Given the description of an element on the screen output the (x, y) to click on. 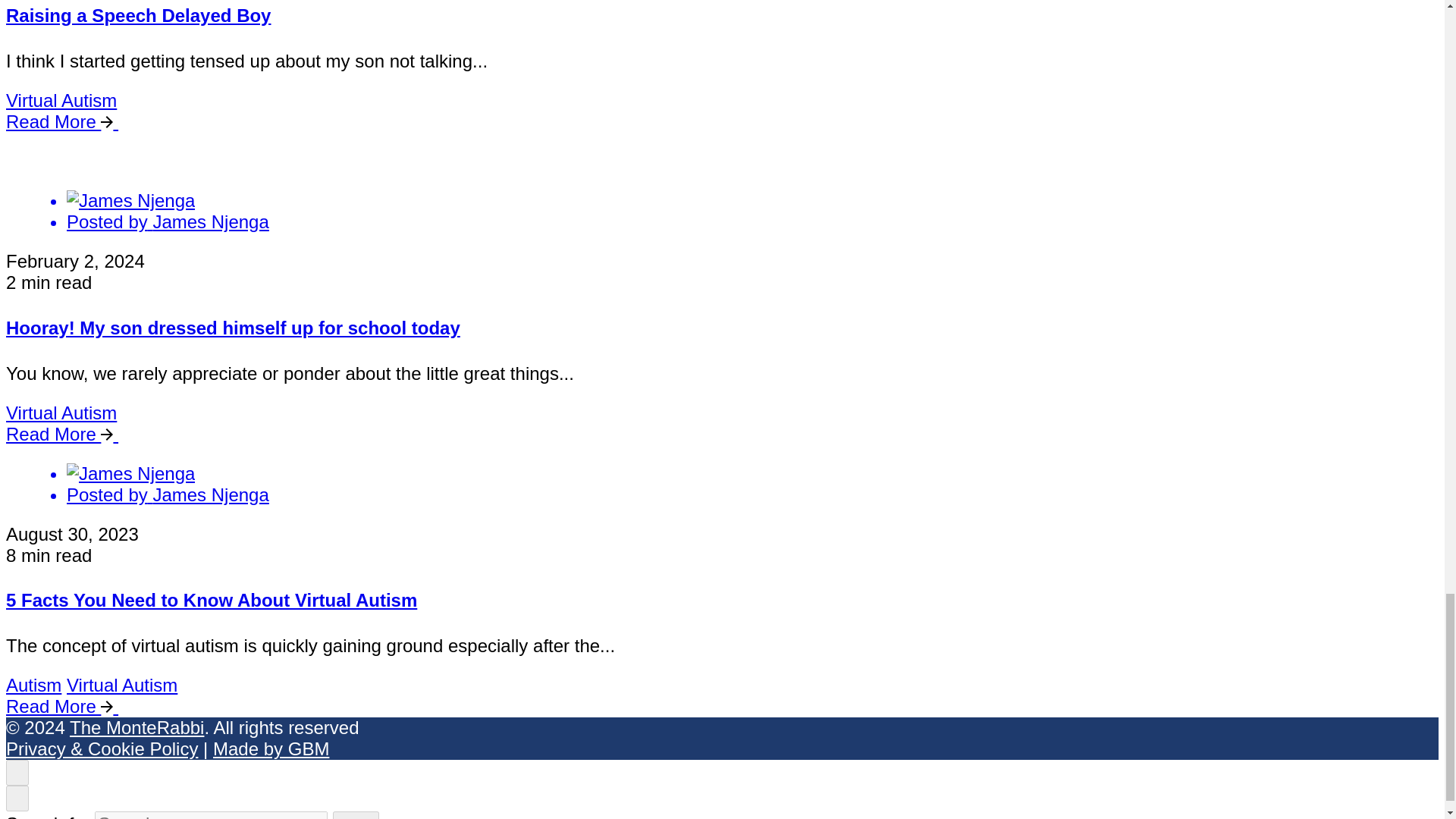
Hooray! My son dressed himself up for school today (232, 327)
Virtual Autism (60, 412)
5 Facts You Need to Know About Virtual Autism (210, 599)
Read More (68, 121)
Raising a Speech Delayed Boy (137, 14)
Virtual Autism (60, 100)
Read More (68, 434)
